Given the description of an element on the screen output the (x, y) to click on. 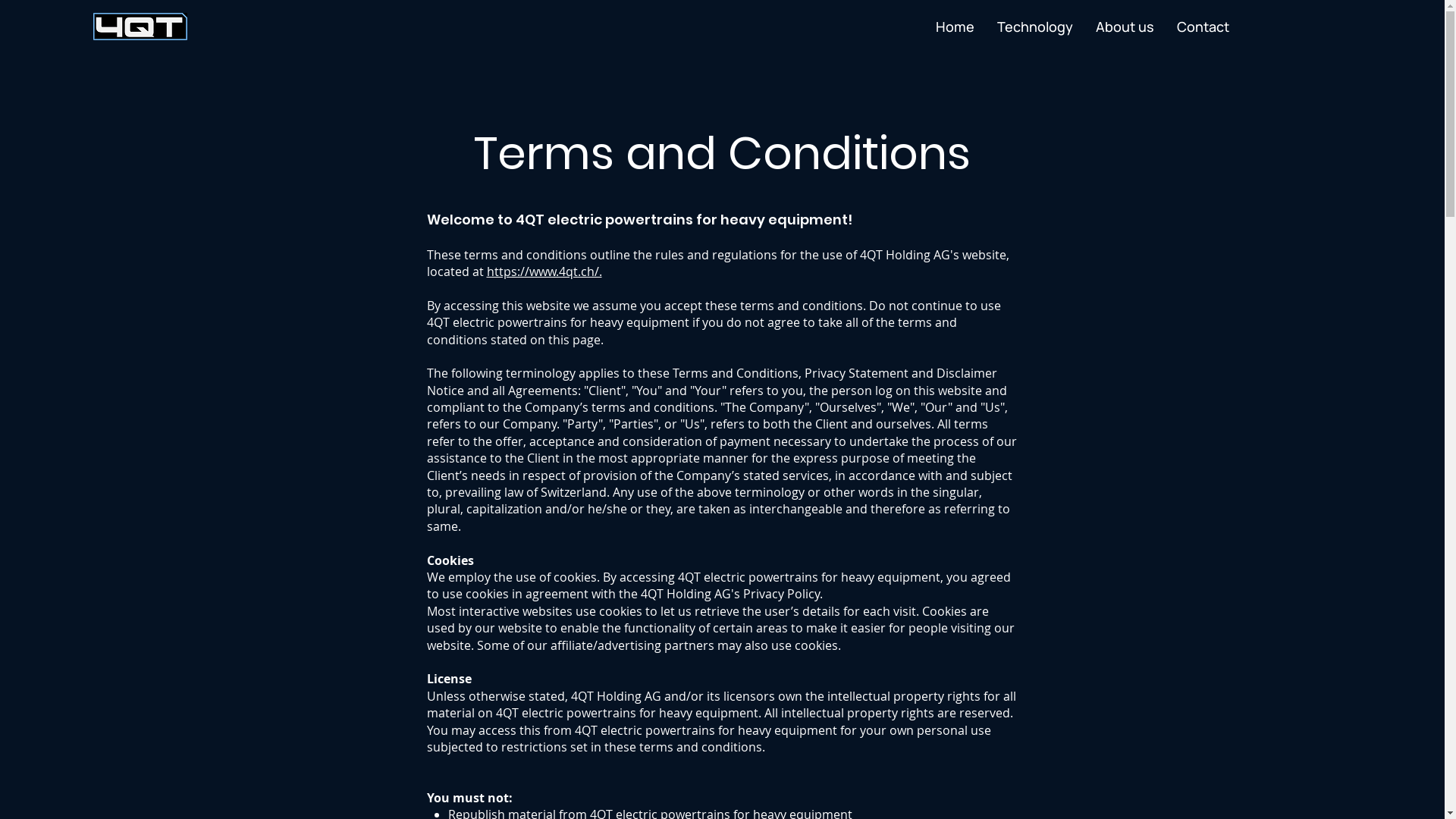
4QT-Logo.png Element type: hover (140, 26)
Technology Element type: text (1034, 26)
About us Element type: text (1124, 26)
Home Element type: text (954, 26)
https://www.4qt.ch/. Element type: text (544, 271)
Contact Element type: text (1202, 26)
